Given the description of an element on the screen output the (x, y) to click on. 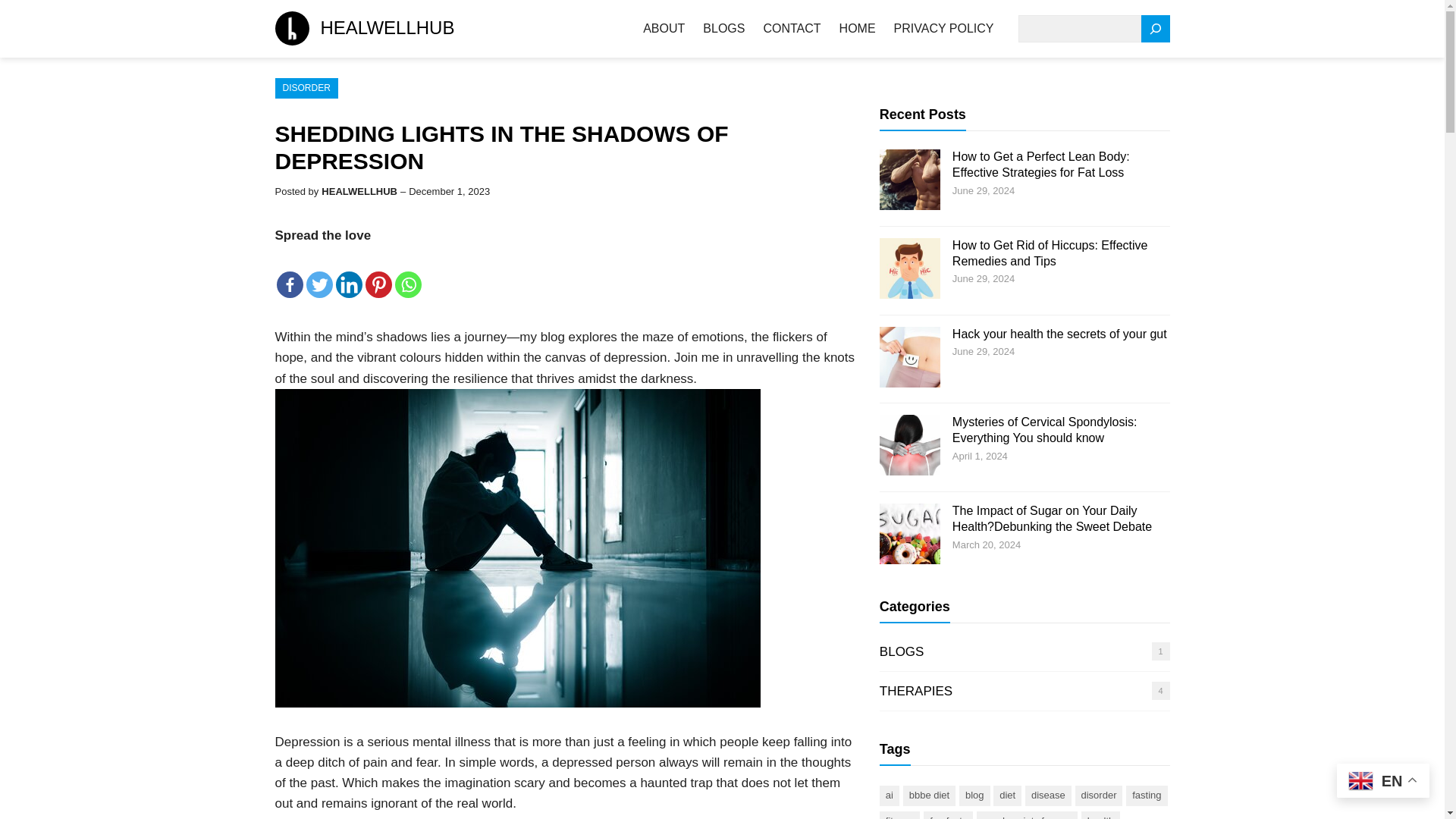
CONTACT (791, 28)
ABOUT (663, 28)
bbbe diet (929, 795)
ai (889, 795)
THERAPIES (915, 690)
DISORDER (306, 87)
PRIVACY POLICY (943, 28)
Hack your health the secrets of your gut (1059, 333)
BLOGS (723, 28)
